Given the description of an element on the screen output the (x, y) to click on. 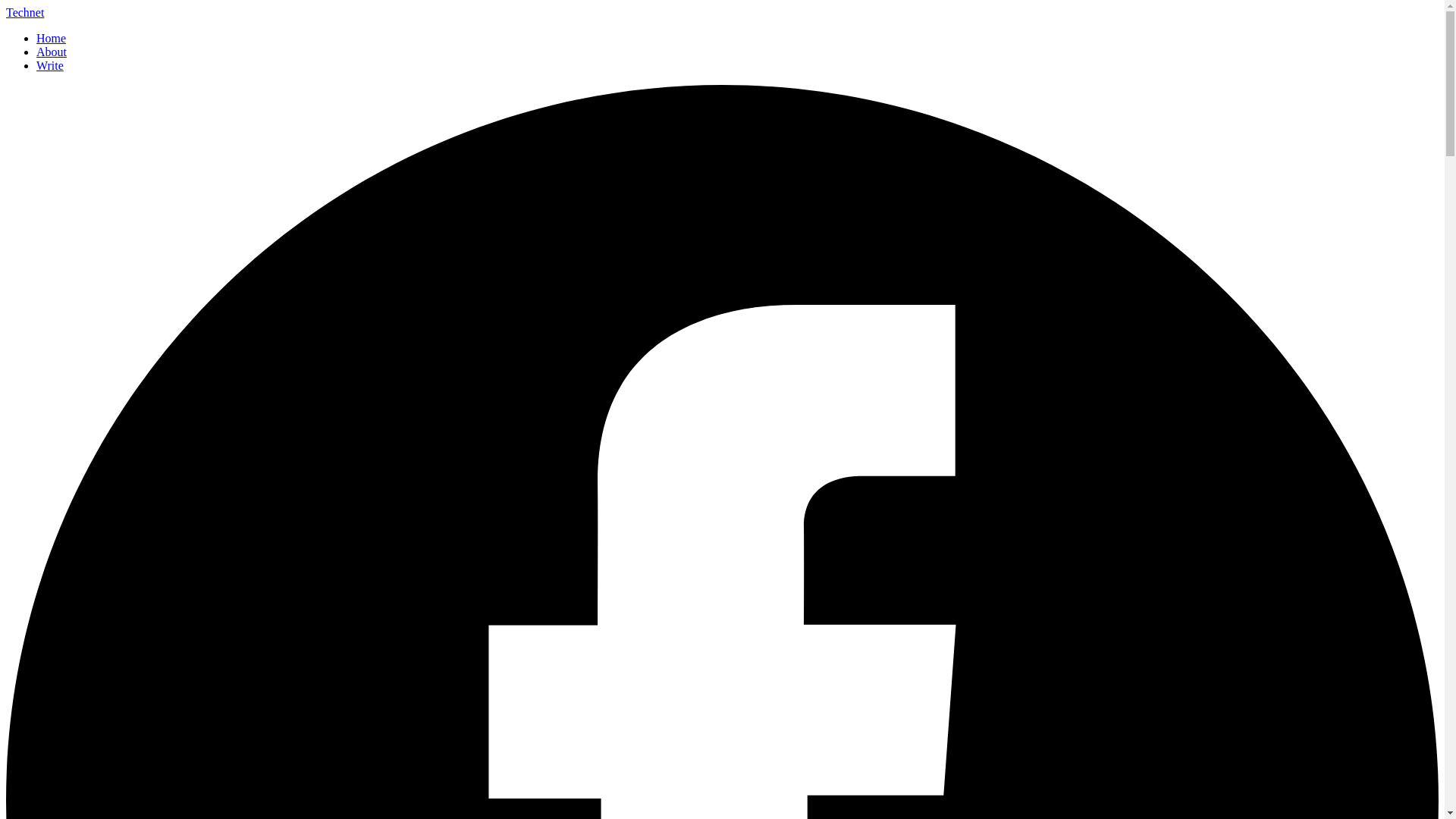
About (51, 51)
Technet (24, 11)
Write (50, 65)
Home (50, 38)
